Given the description of an element on the screen output the (x, y) to click on. 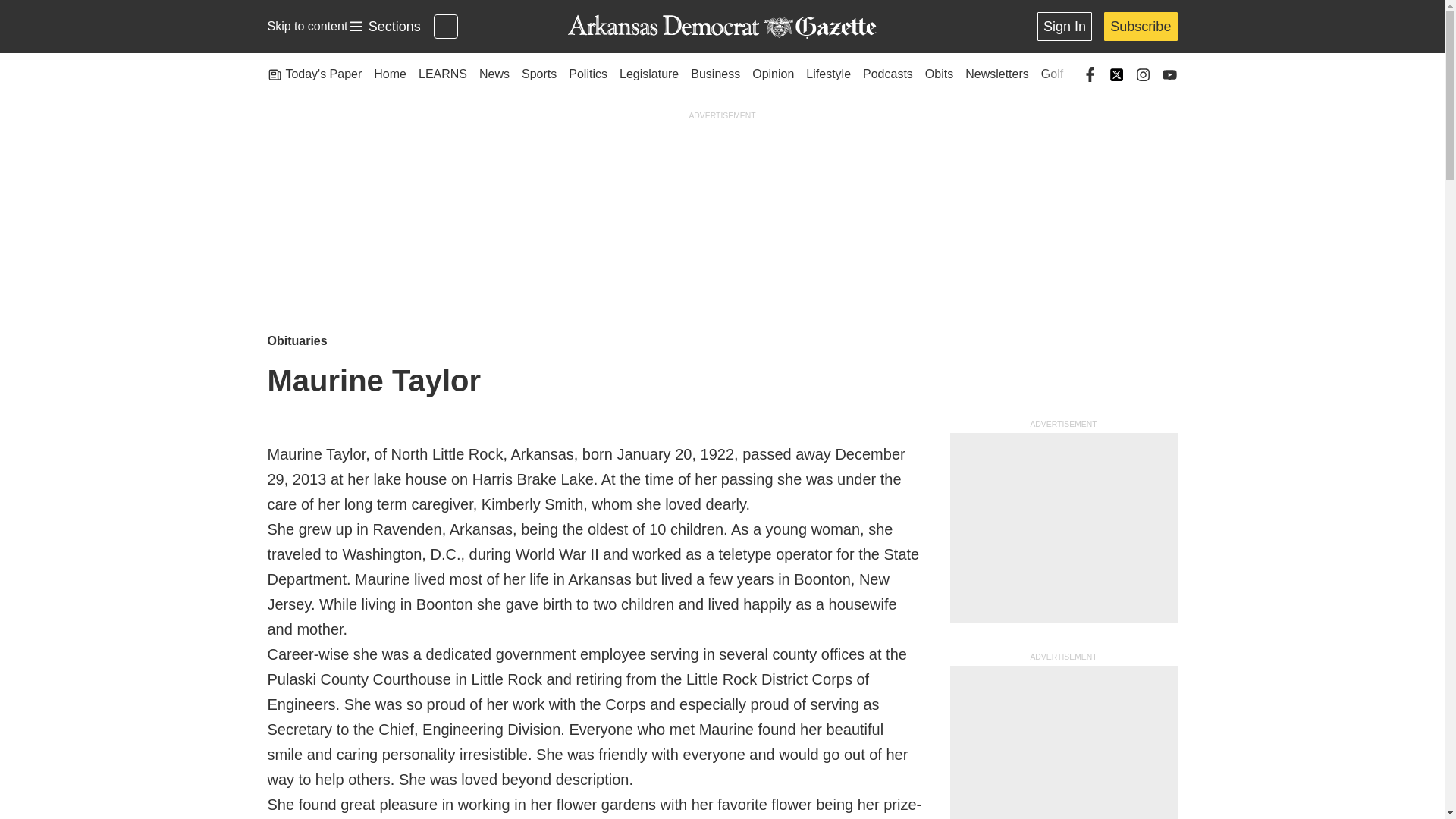
Arkansas Democrat Gazette (721, 26)
Skip to content (306, 26)
